Given the description of an element on the screen output the (x, y) to click on. 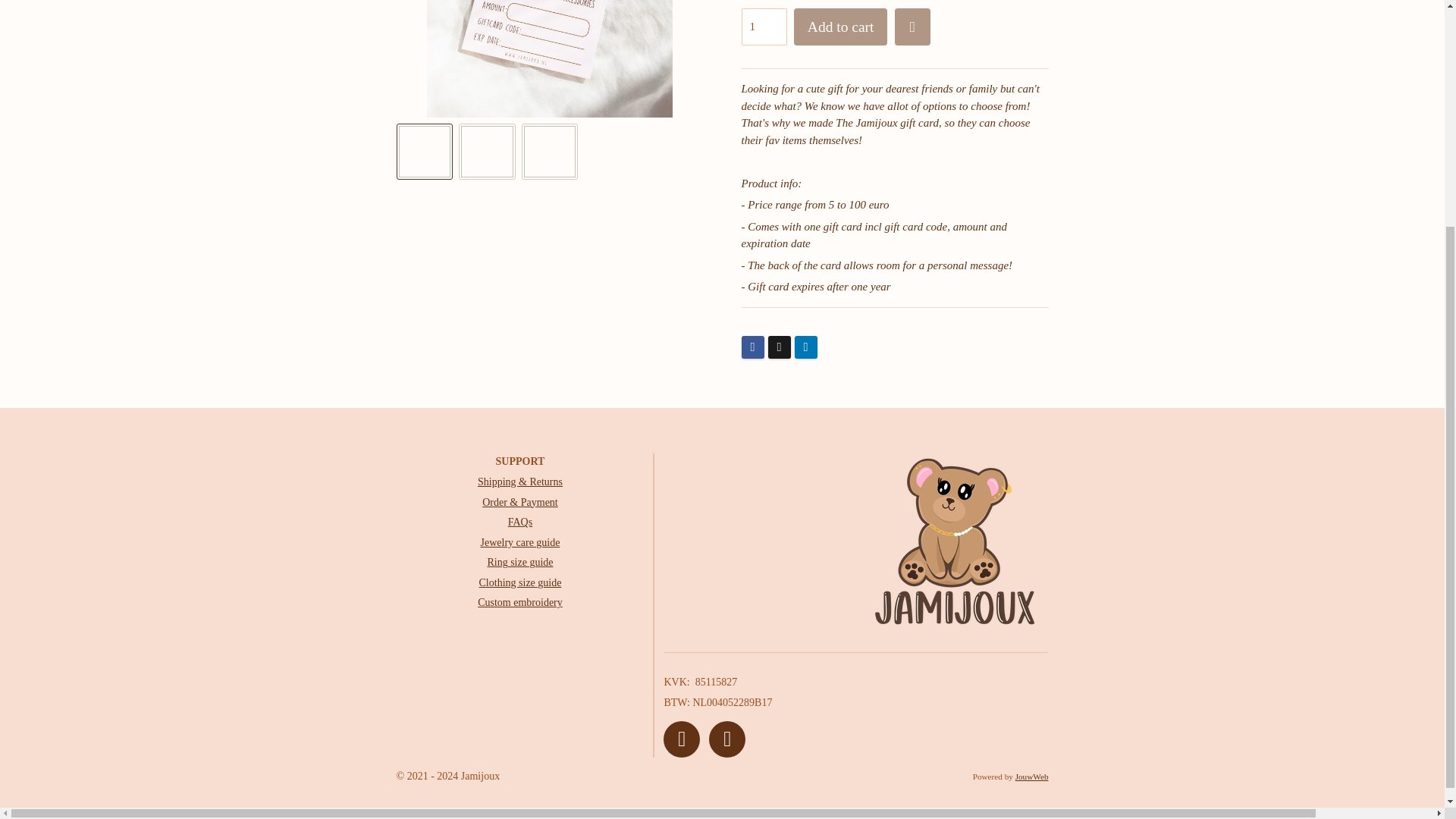
Add to cart (839, 26)
Add to wishlist (912, 26)
1 (764, 26)
